Given the description of an element on the screen output the (x, y) to click on. 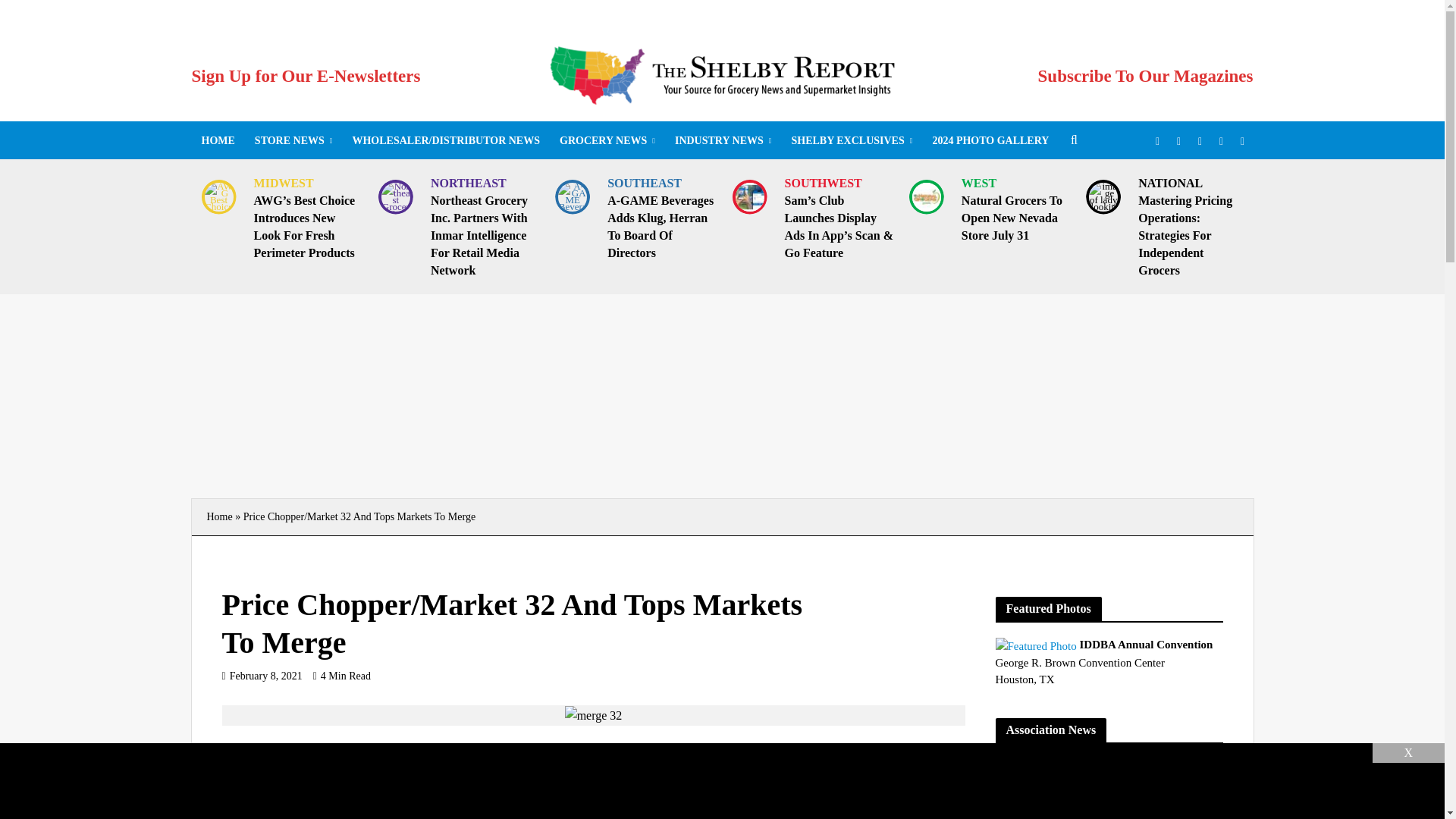
STORE NEWS (293, 140)
INDUSTRY NEWS (723, 140)
SHELBY EXCLUSIVES (850, 140)
Subscribe To Our Magazines (1145, 76)
Sign Up for Our E-Newsletters (305, 76)
GROCERY NEWS (607, 140)
HOME (217, 140)
